Given the description of an element on the screen output the (x, y) to click on. 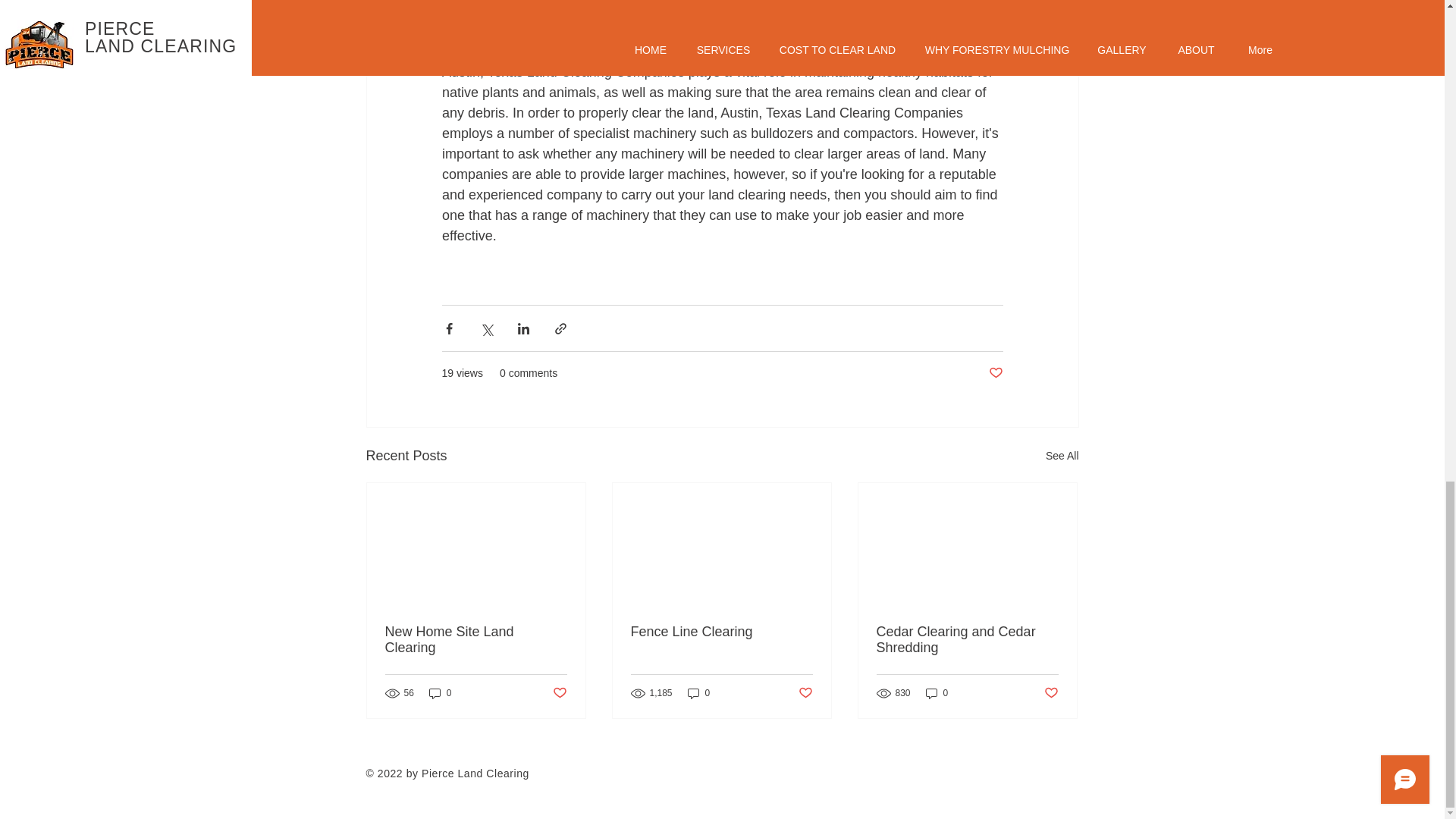
Post not marked as liked (558, 693)
Post not marked as liked (1050, 693)
0 (698, 693)
0 (440, 693)
New Home Site Land Clearing (476, 640)
See All (1061, 455)
Post not marked as liked (995, 373)
Post not marked as liked (804, 693)
Cedar Clearing and Cedar Shredding (967, 640)
Fence Line Clearing (721, 631)
0 (937, 693)
